Given the description of an element on the screen output the (x, y) to click on. 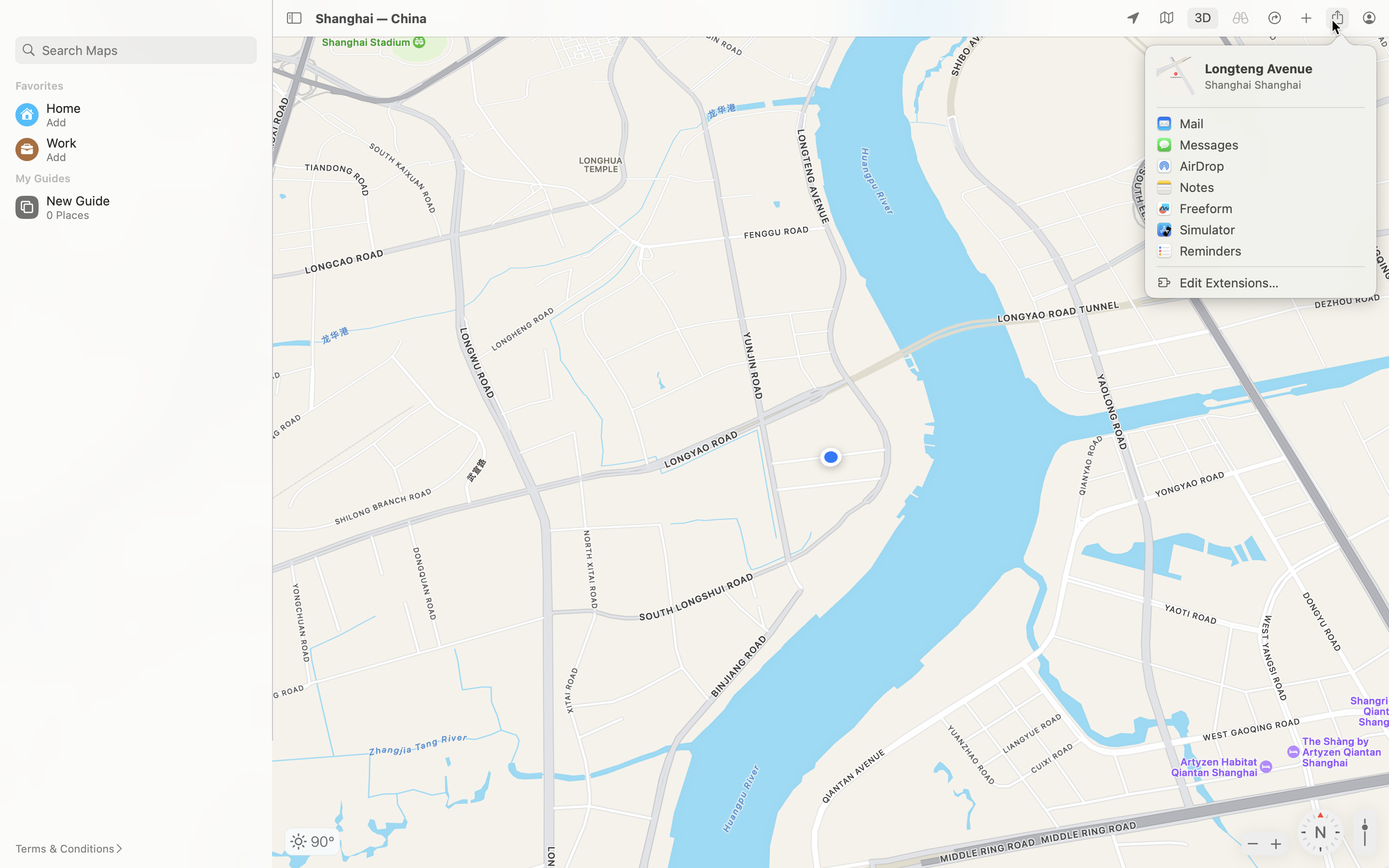
0 Element type: AXCheckBox (1240, 18)
Longteng Avenue Element type: AXStaticText (1283, 68)
1 Element type: AXCheckBox (1202, 18)
Shanghai Shanghai Element type: AXStaticText (1283, 84)
